Given the description of an element on the screen output the (x, y) to click on. 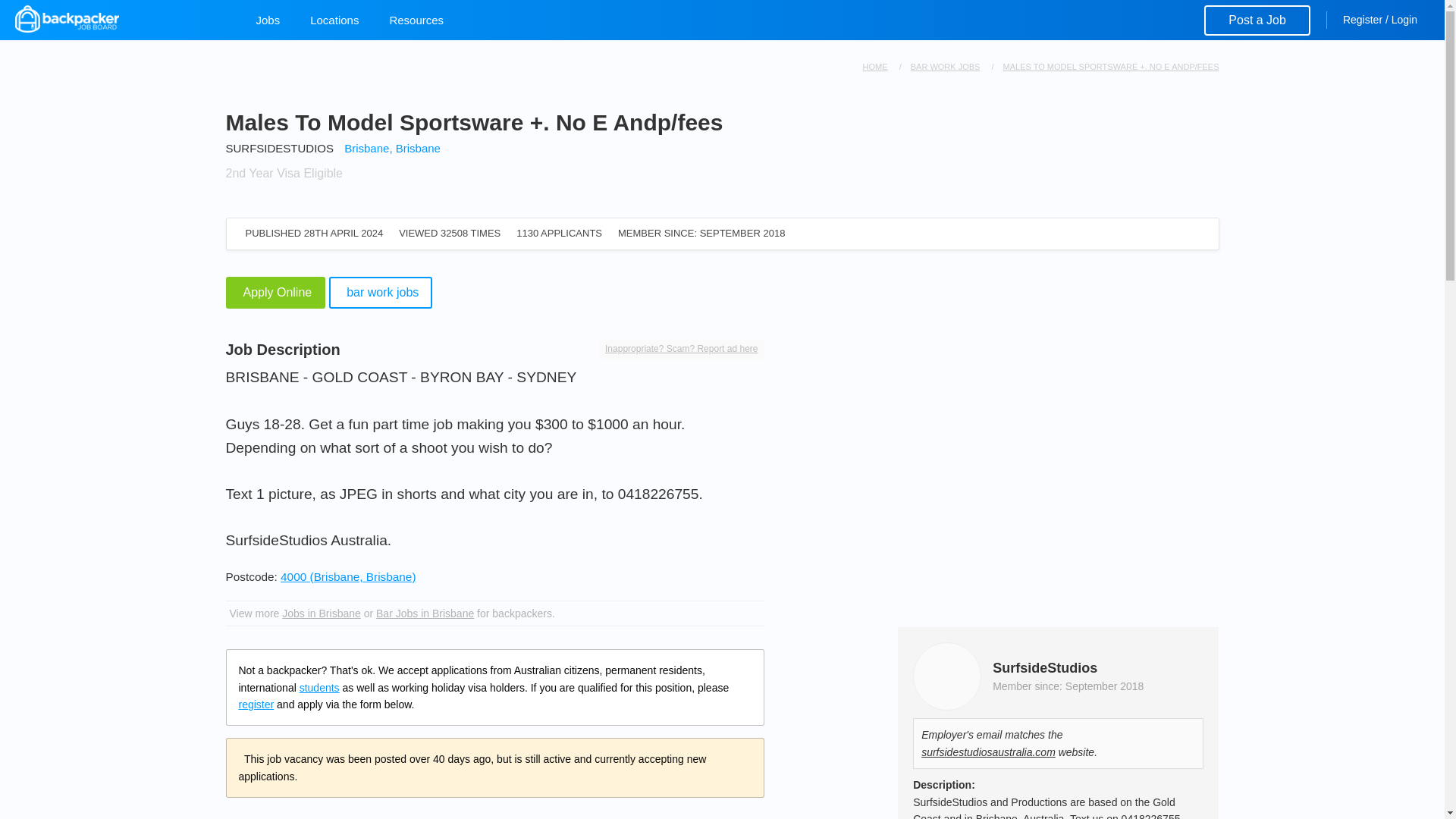
bar work jobs (380, 292)
Login (1403, 19)
Second Year Working Holiday Visa Eligible (284, 173)
Browse backpacker job categories (268, 20)
Home: Backpacker Job Board (875, 66)
Post a Job (1257, 19)
Home: Backpacker Job Board (120, 18)
Bar Jobs in Brisbane (424, 613)
bar work jobs (380, 292)
Browse backpacker job locations (334, 20)
Pricing (1257, 19)
Apply Online (275, 292)
students (319, 687)
Register (1361, 19)
bar work jobs (945, 66)
